Given the description of an element on the screen output the (x, y) to click on. 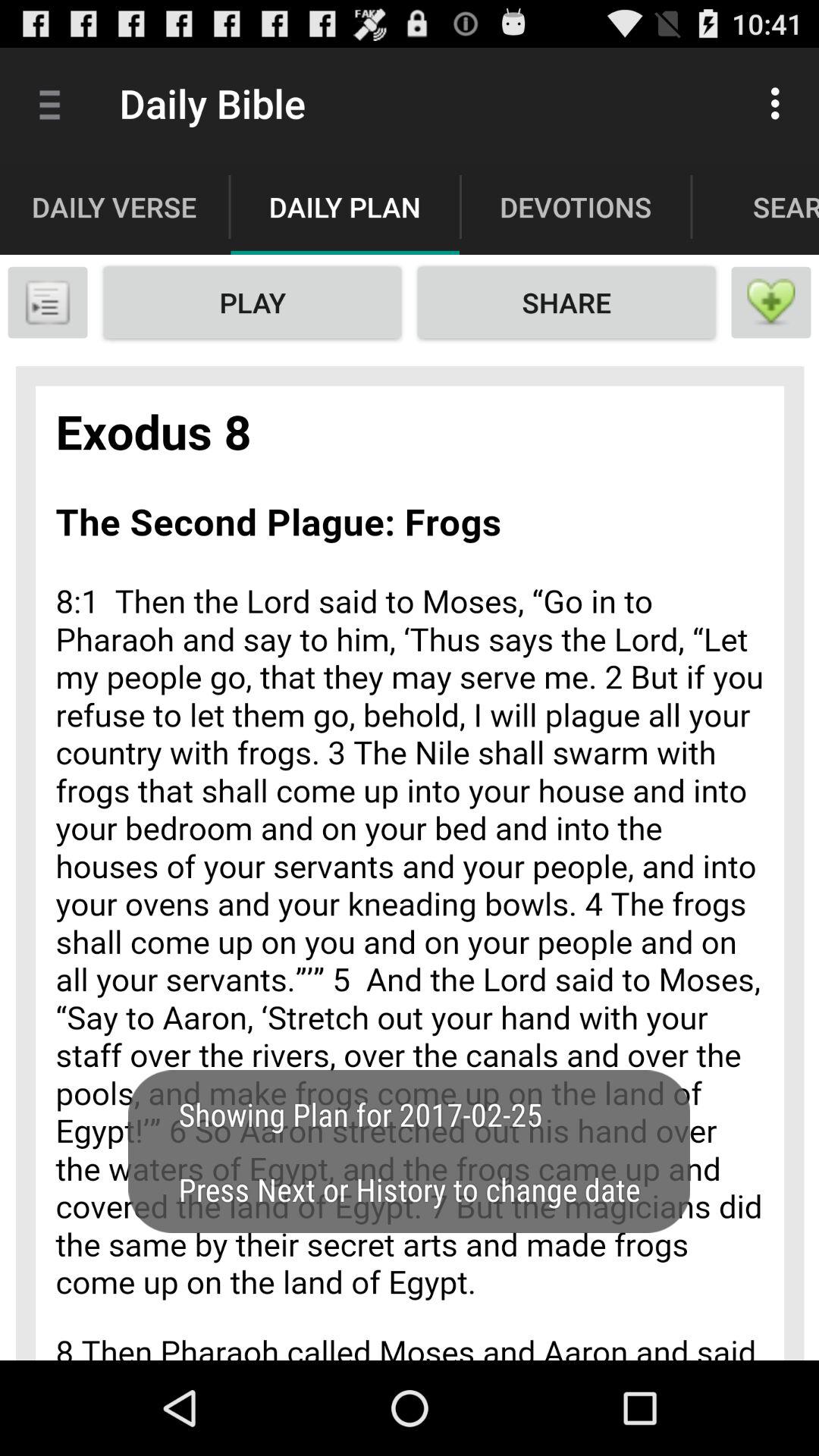
increment button (771, 302)
